Given the description of an element on the screen output the (x, y) to click on. 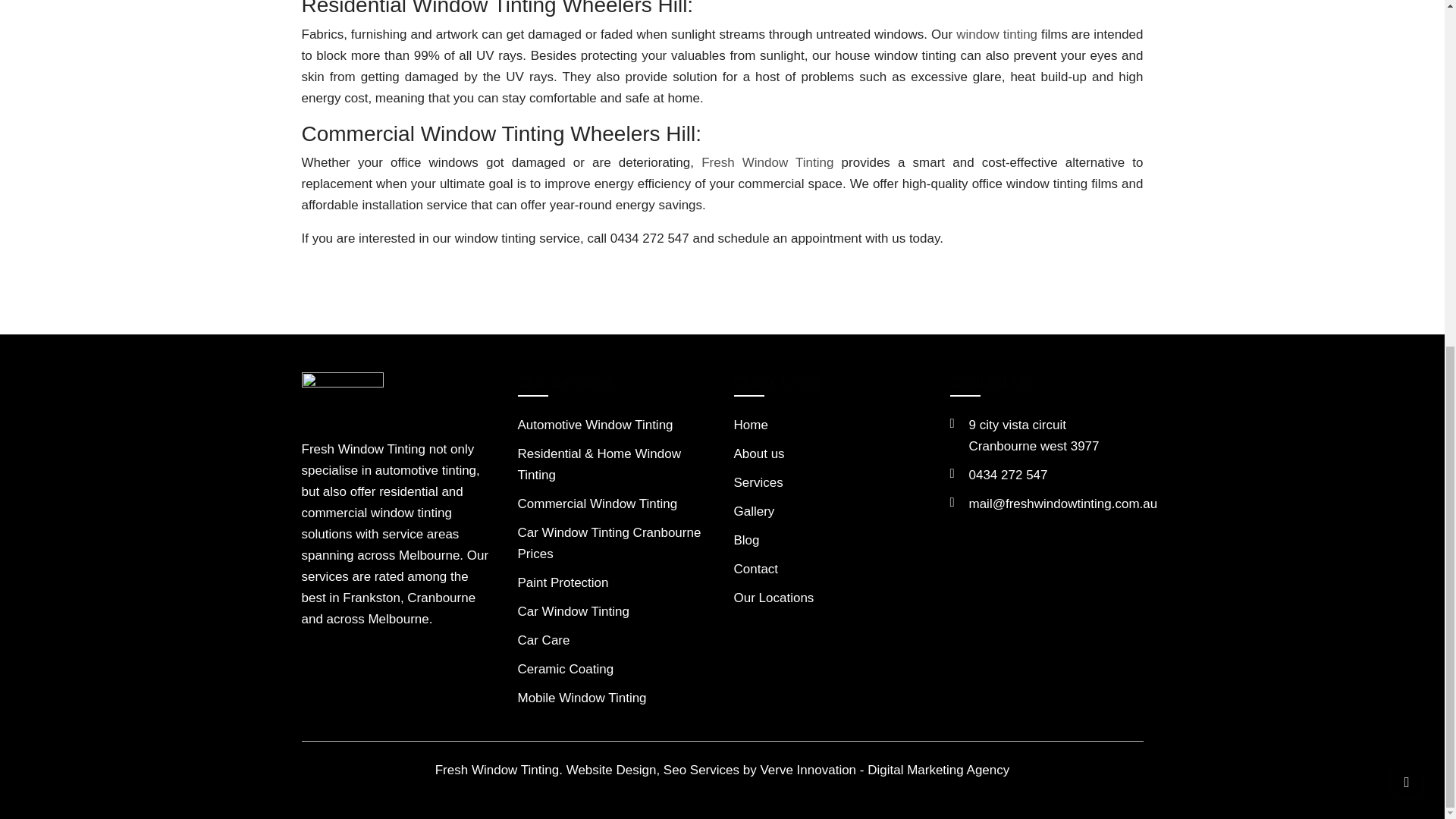
Car Care (542, 640)
Blog (1034, 435)
Services (746, 540)
Gallery (758, 482)
Car Window Tinting (753, 511)
Mobile Window Tinting (572, 611)
Ceramic Coating (581, 698)
0434 272 547 (564, 668)
About us (1008, 474)
Home (758, 453)
Paint Protection (750, 424)
Fresh Window Tinting (562, 582)
Automotive Window Tinting (766, 162)
Our Locations (594, 424)
